Given the description of an element on the screen output the (x, y) to click on. 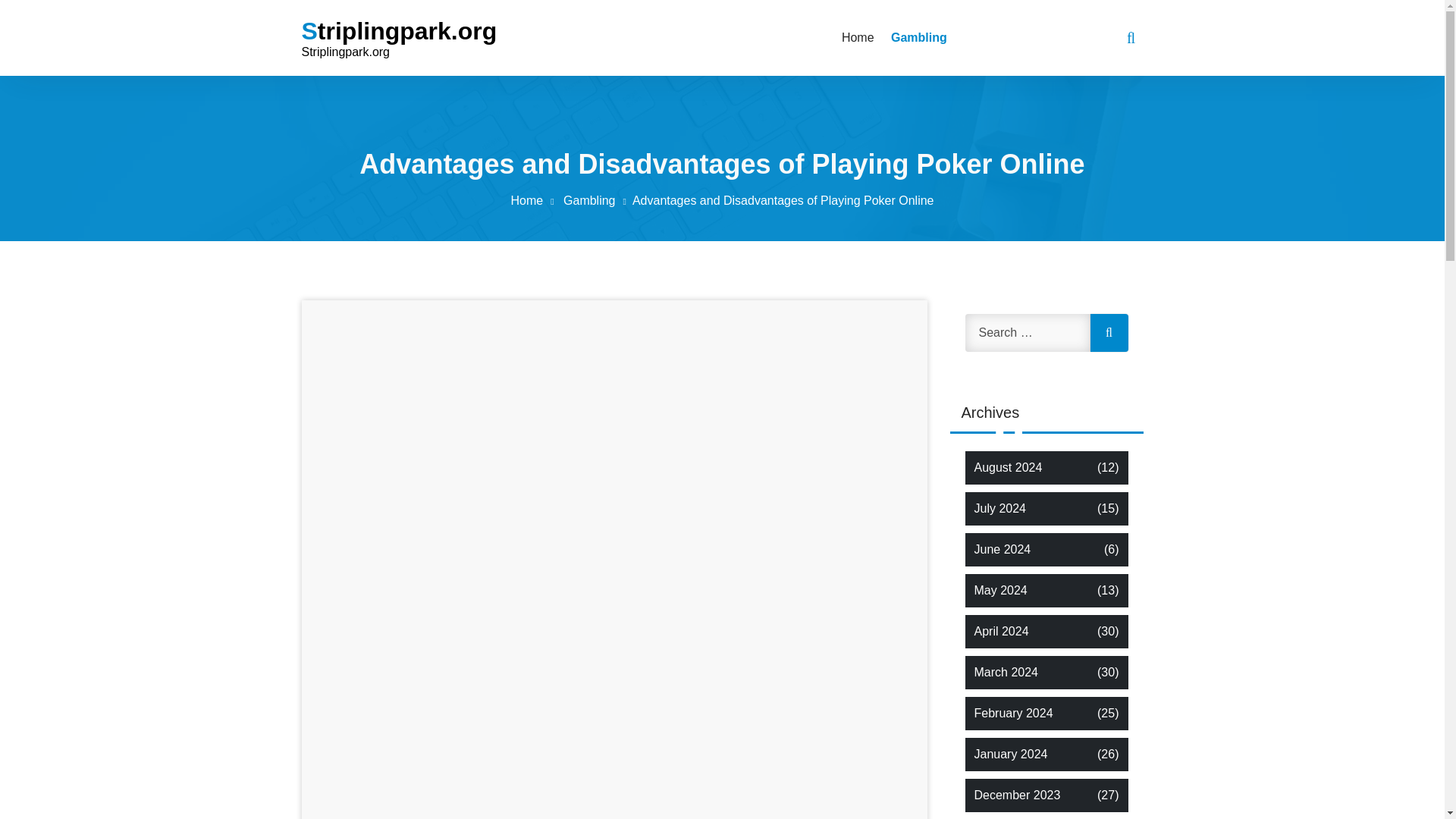
Home (857, 37)
Gambling (916, 37)
June 2024 (1002, 549)
April 2024 (1000, 631)
July 2024 (1000, 508)
Gambling (597, 200)
August 2024 (1008, 467)
January 2024 (1010, 754)
March 2024 (1006, 672)
May 2024 (1000, 590)
